Given the description of an element on the screen output the (x, y) to click on. 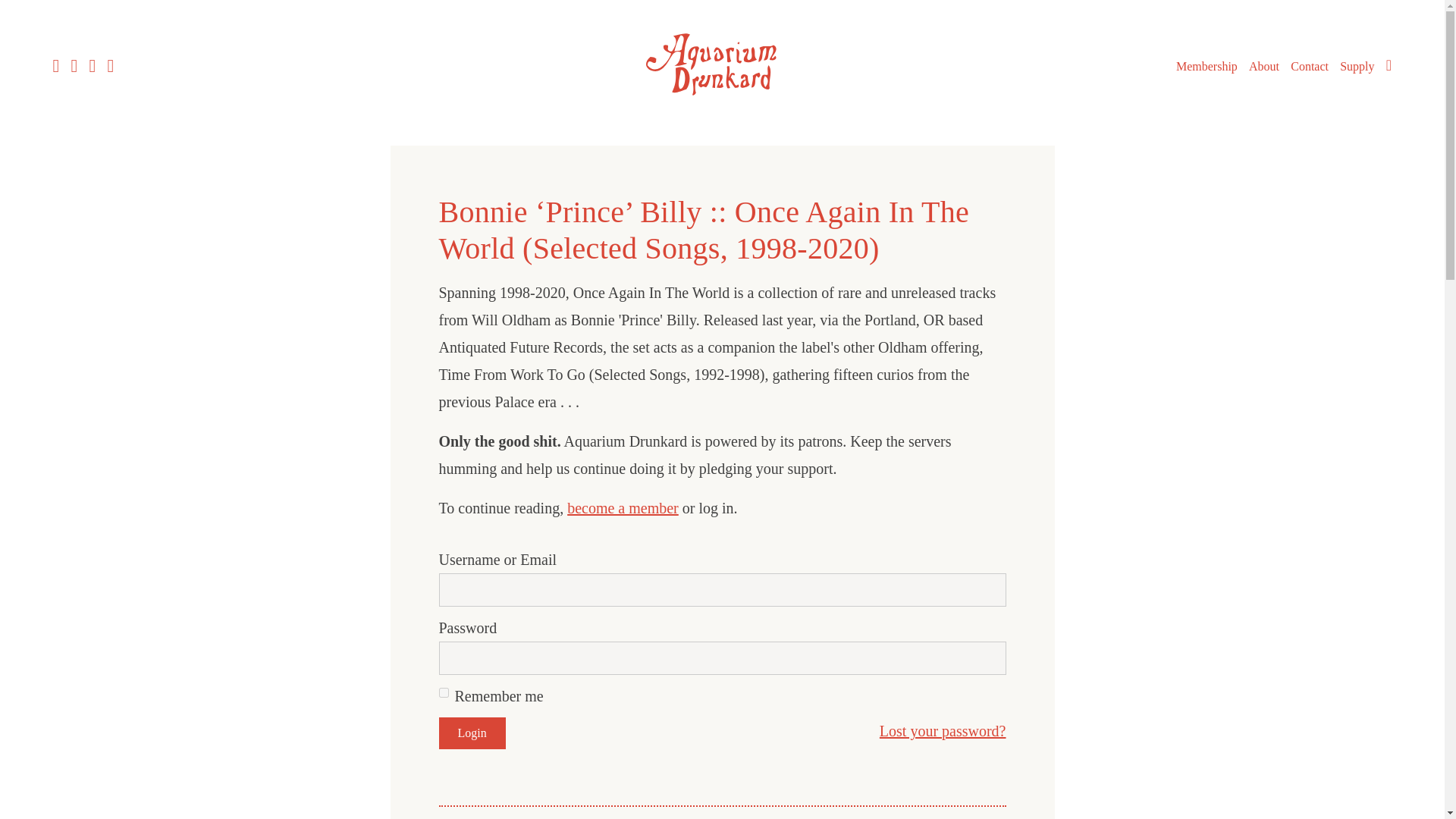
become a member (622, 507)
Aquarium Drunkard Merch Shop (1356, 66)
Aquarium Drunkard (721, 100)
Lost your password? (942, 730)
Contact (1308, 66)
About (1264, 66)
Supply (1356, 66)
Aquarium Drunkard (721, 64)
Login (471, 733)
Membership (1206, 66)
